Given the description of an element on the screen output the (x, y) to click on. 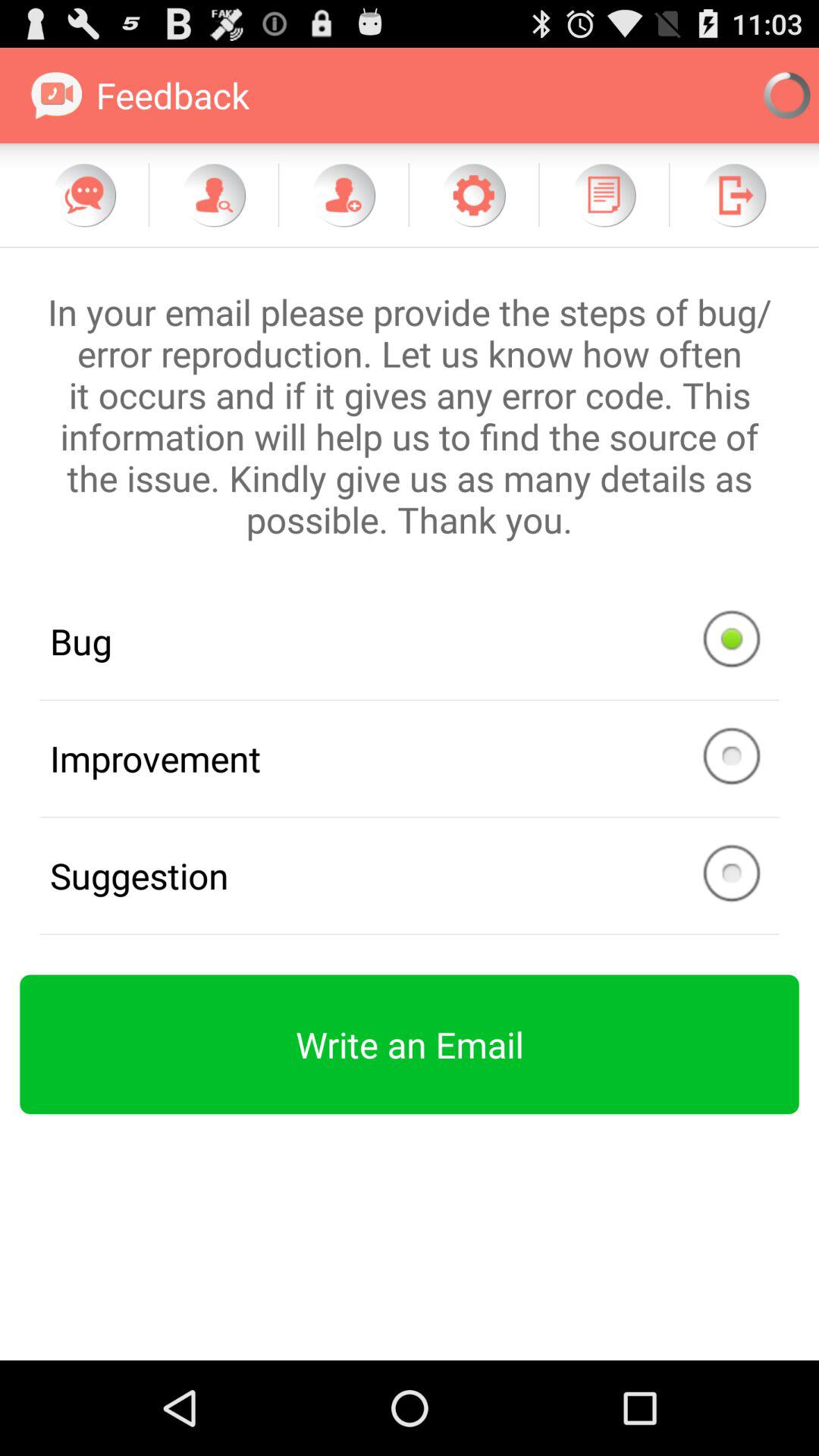
feedback (343, 194)
